Given the description of an element on the screen output the (x, y) to click on. 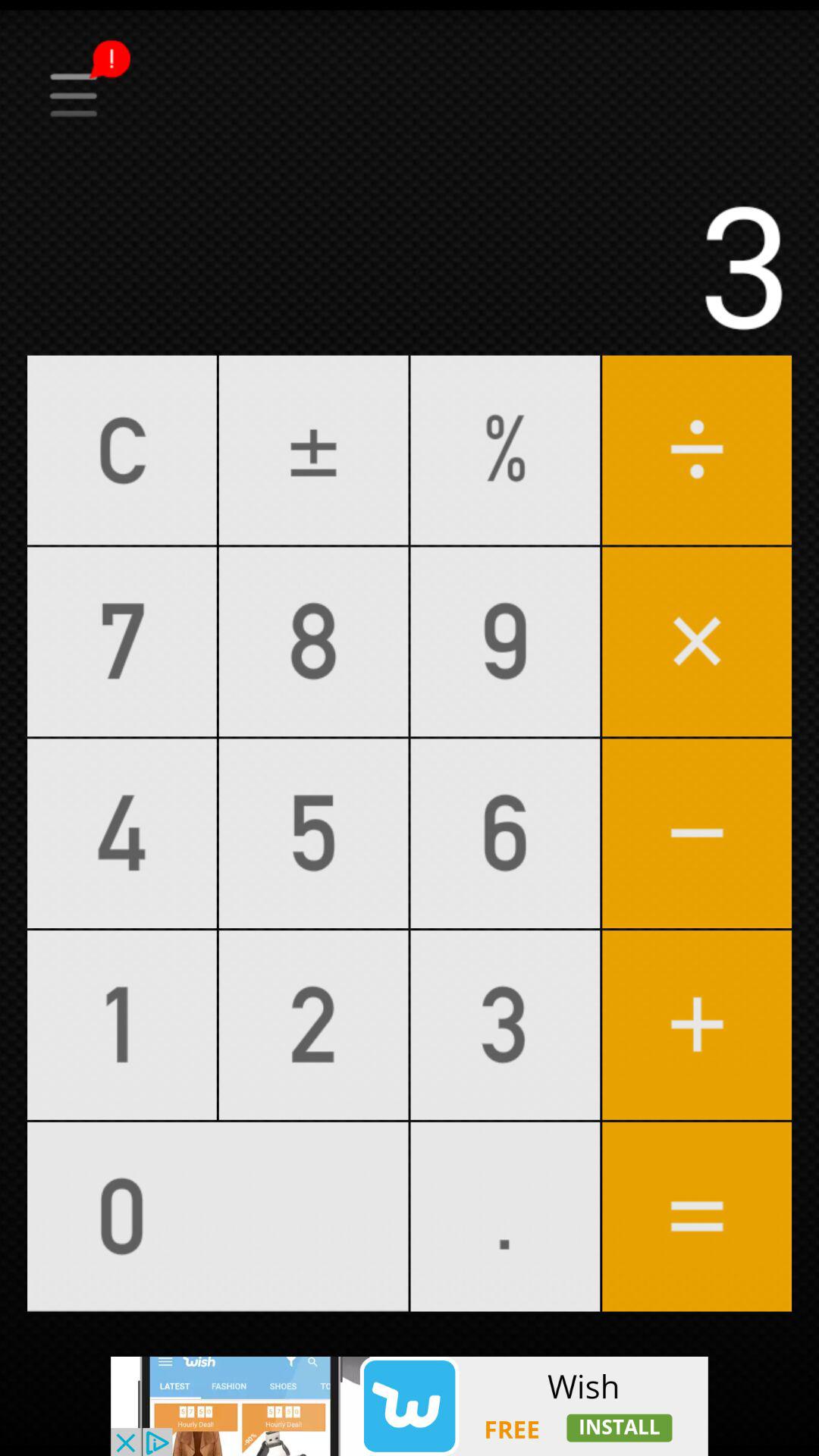
notification (409, 47)
